Given the description of an element on the screen output the (x, y) to click on. 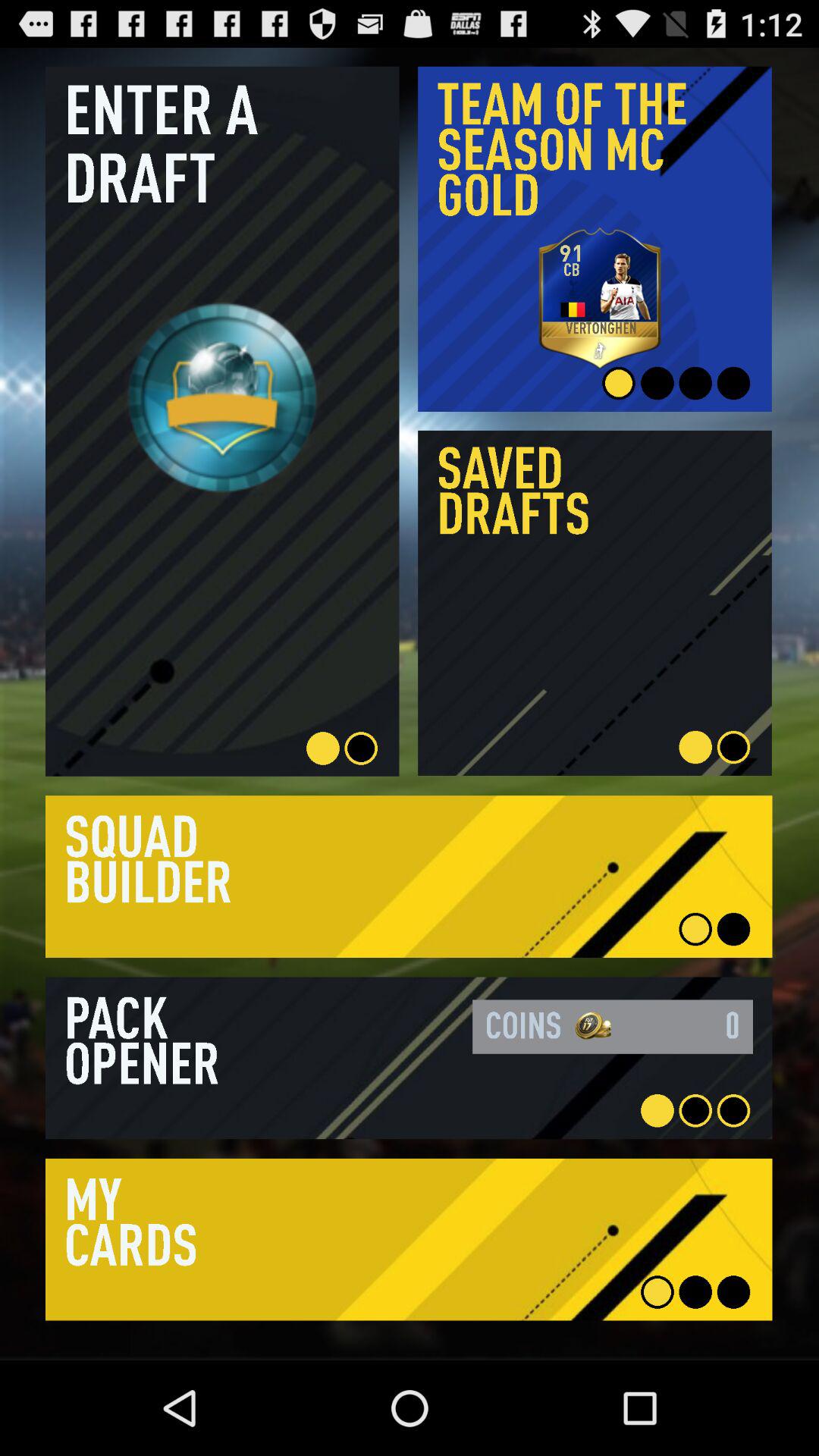
to view the item (408, 1058)
